Given the description of an element on the screen output the (x, y) to click on. 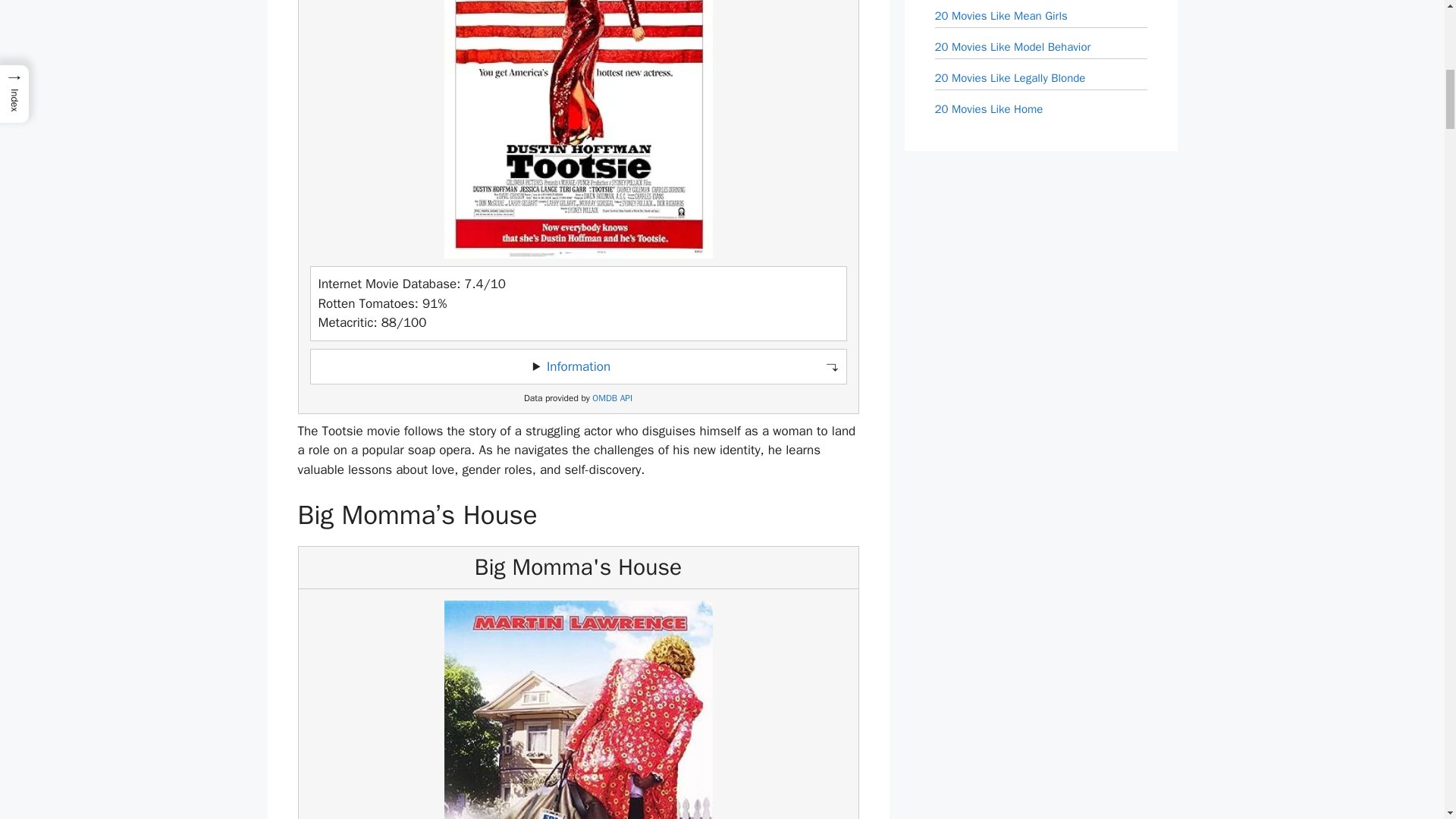
OMDB API (611, 398)
Information (578, 366)
Toggle information (578, 366)
Open Movie Database API (611, 398)
